Given the description of an element on the screen output the (x, y) to click on. 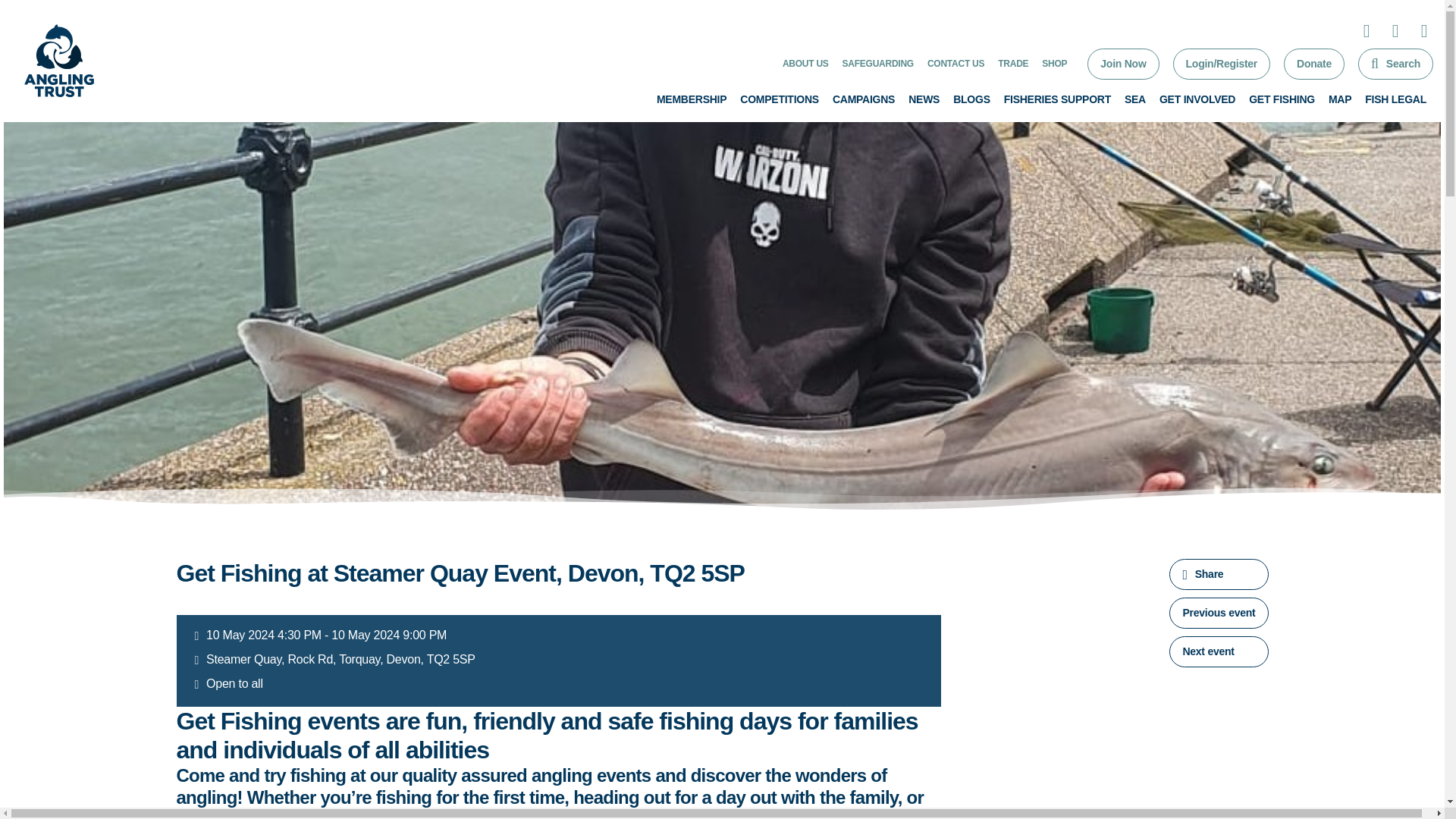
FISH LEGAL (1395, 99)
Join Now (1122, 63)
CAMPAIGNS (863, 99)
NEWS (923, 99)
GET FISHING (1281, 99)
BLOGS (971, 99)
COMPETITIONS (778, 99)
SHOP (1054, 63)
SAFEGUARDING (878, 63)
Search (1395, 63)
FISHERIES SUPPORT (1057, 99)
SEA (1134, 99)
ABOUT US (805, 63)
CONTACT US (955, 63)
GET INVOLVED (1196, 99)
